Given the description of an element on the screen output the (x, y) to click on. 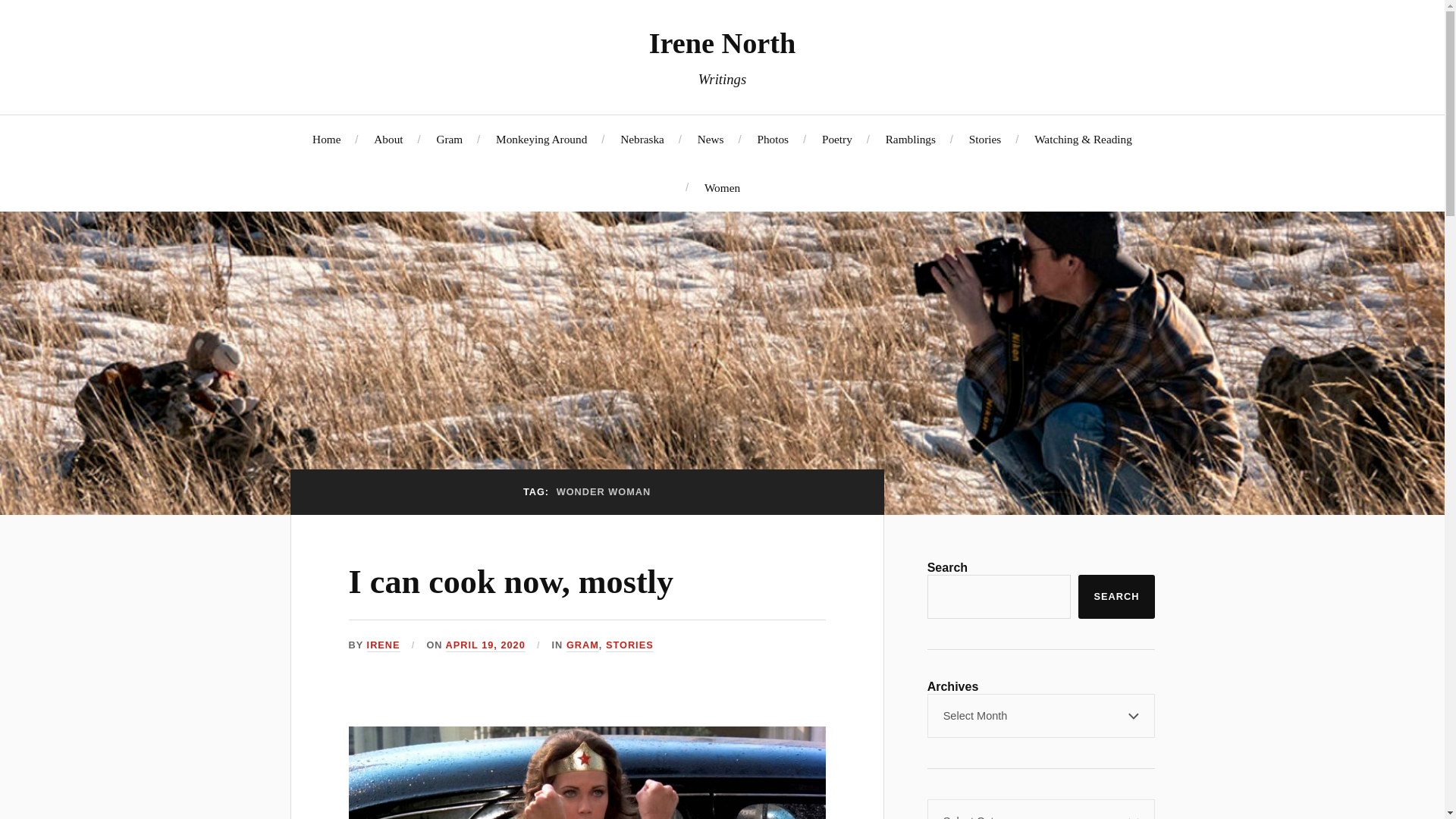
Nebraska (641, 138)
Ramblings (910, 138)
STORIES (629, 644)
Irene North (722, 42)
IRENE (383, 644)
Monkeying Around (541, 138)
I can cook now, mostly (510, 581)
GRAM (582, 644)
APRIL 19, 2020 (485, 644)
Posts by Irene (383, 644)
